Given the description of an element on the screen output the (x, y) to click on. 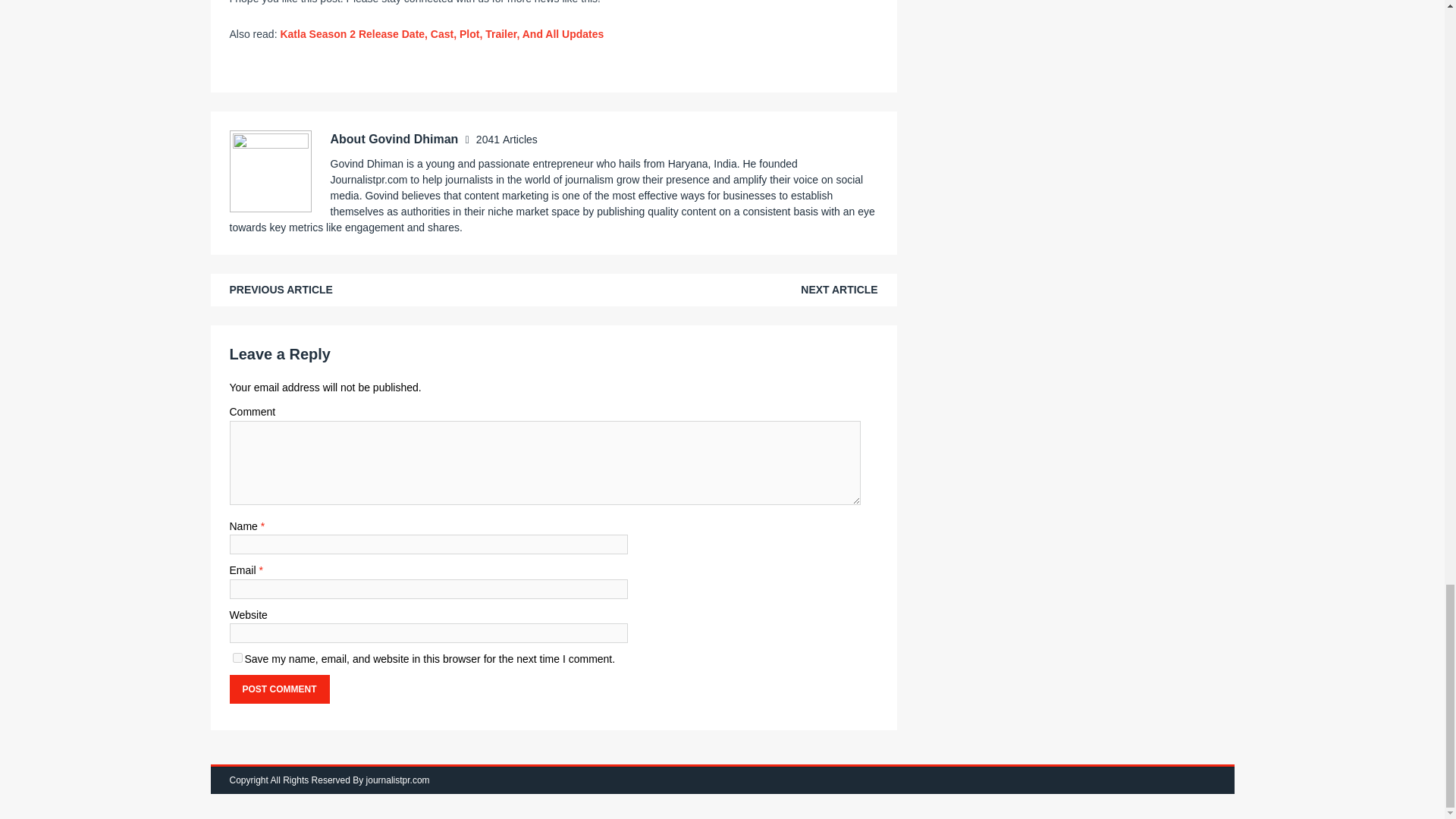
More articles written by Govind Dhiman' (506, 139)
NEXT ARTICLE (838, 289)
journalistpr.com (397, 779)
Post Comment (278, 688)
PREVIOUS ARTICLE (279, 289)
Post Comment (278, 688)
yes (236, 657)
2041 Articles (506, 139)
